Given the description of an element on the screen output the (x, y) to click on. 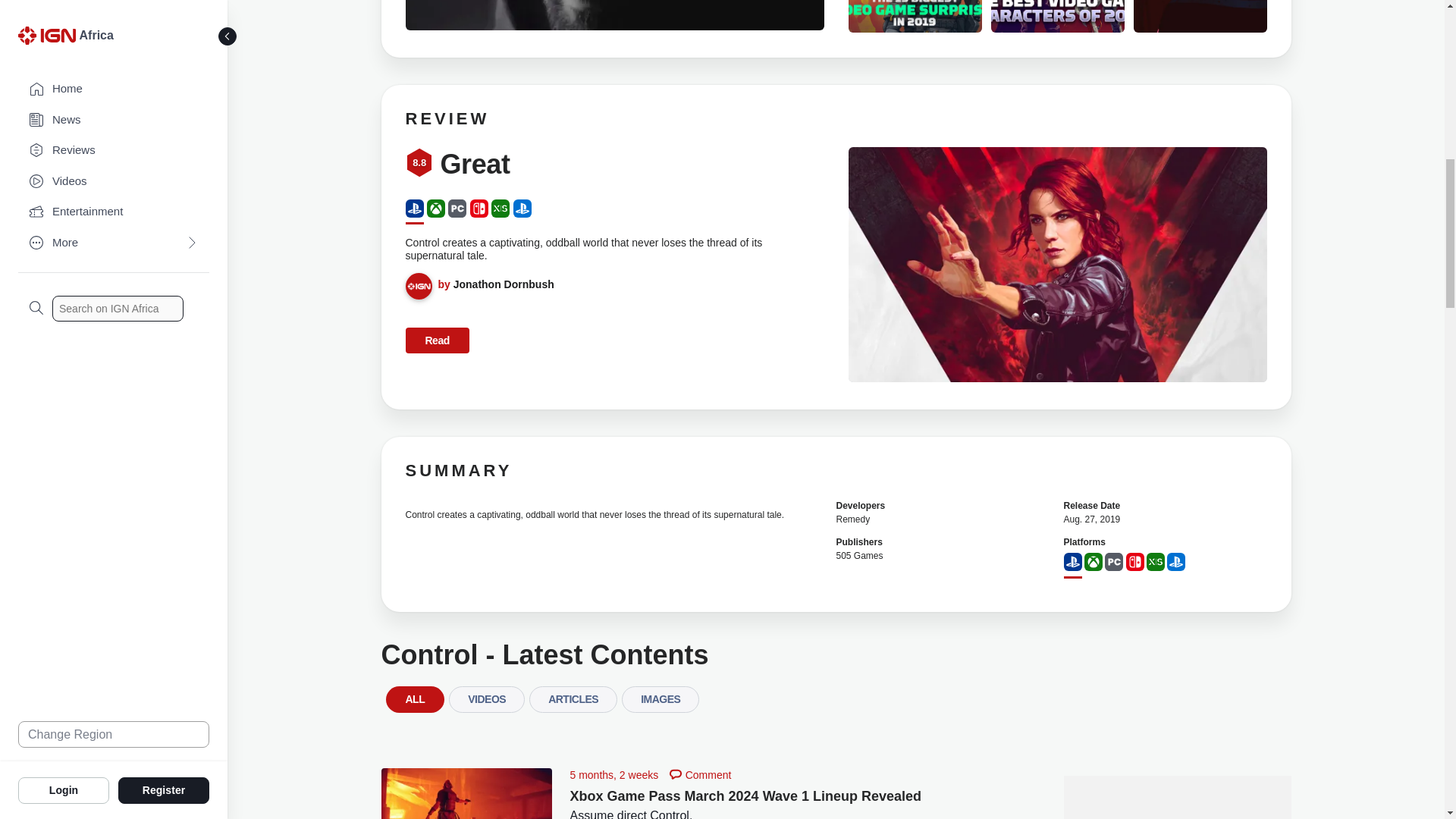
Read (436, 339)
NintendoSwitch (478, 208)
XboxSeries (500, 208)
PS4 (413, 208)
8.8 (418, 163)
Jonathon Dornbush (503, 284)
Read (436, 339)
XboxOne (435, 208)
Remedy (852, 519)
PC (456, 208)
